Given the description of an element on the screen output the (x, y) to click on. 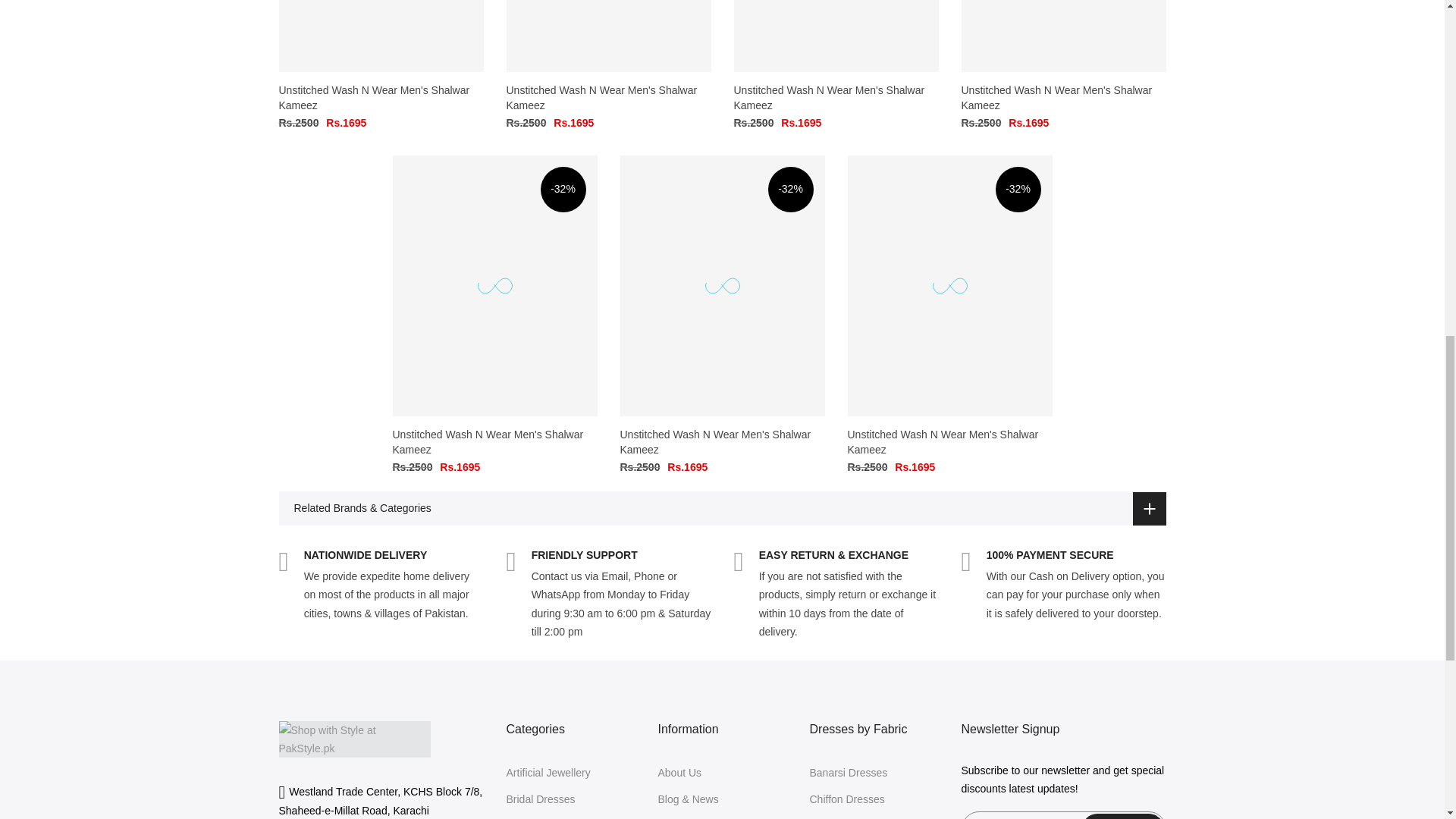
Unstitched Wash N Wear Men's Shalwar Kameez (381, 36)
Unstitched Wash N Wear Men's Shalwar Kameez (374, 97)
